Given the description of an element on the screen output the (x, y) to click on. 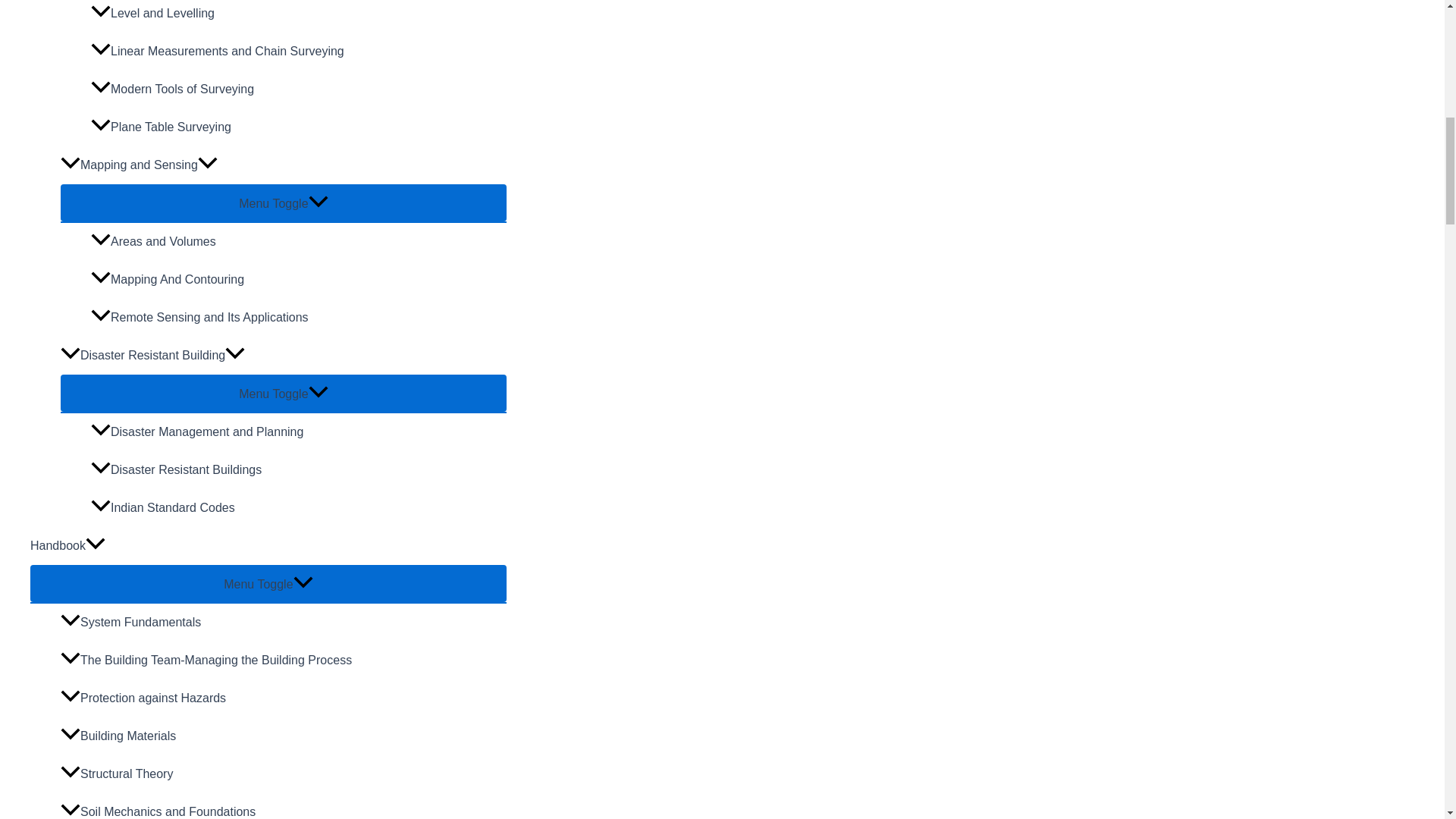
Mapping and Sensing (283, 165)
Modern Tools of Surveying (298, 89)
Menu Toggle (283, 392)
Plane Table Surveying (298, 127)
Remote Sensing and Its Applications (298, 317)
The Building Team-Managing the Building Process (283, 660)
Areas and Volumes (298, 241)
Mapping And Contouring (298, 279)
Level and Levelling (298, 16)
Menu Toggle (283, 202)
Disaster Resistant Buildings (298, 469)
Disaster Resistant Building (283, 355)
Handbook (268, 546)
Menu Toggle (268, 583)
Disaster Management and Planning (298, 432)
